Given the description of an element on the screen output the (x, y) to click on. 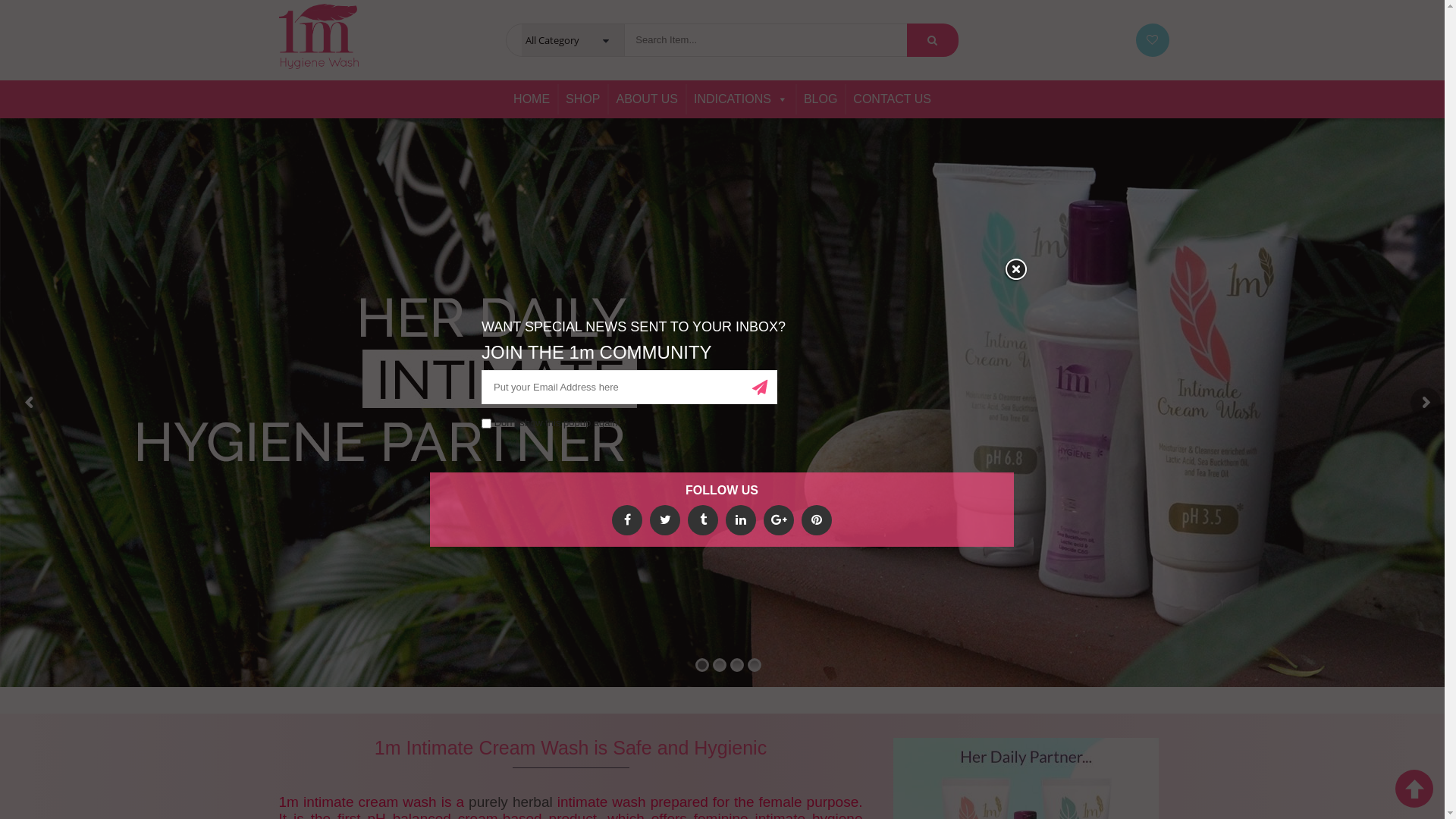
INDICATIONS Element type: text (740, 99)
purely herbal Element type: text (510, 801)
HOME Element type: text (531, 99)
Pinterest Element type: hover (816, 520)
Google+ Element type: hover (778, 520)
ABOUT US Element type: text (646, 99)
Close Element type: hover (1015, 269)
Facebook Element type: hover (626, 520)
BLOG Element type: text (820, 99)
SHOP Element type: text (582, 99)
Linkedin Element type: hover (740, 520)
Wishlist Element type: text (1152, 39)
subscribe Element type: text (759, 386)
CONTACT US Element type: text (891, 99)
Twitter Element type: hover (664, 520)
Tumblr Element type: hover (702, 520)
